Given the description of an element on the screen output the (x, y) to click on. 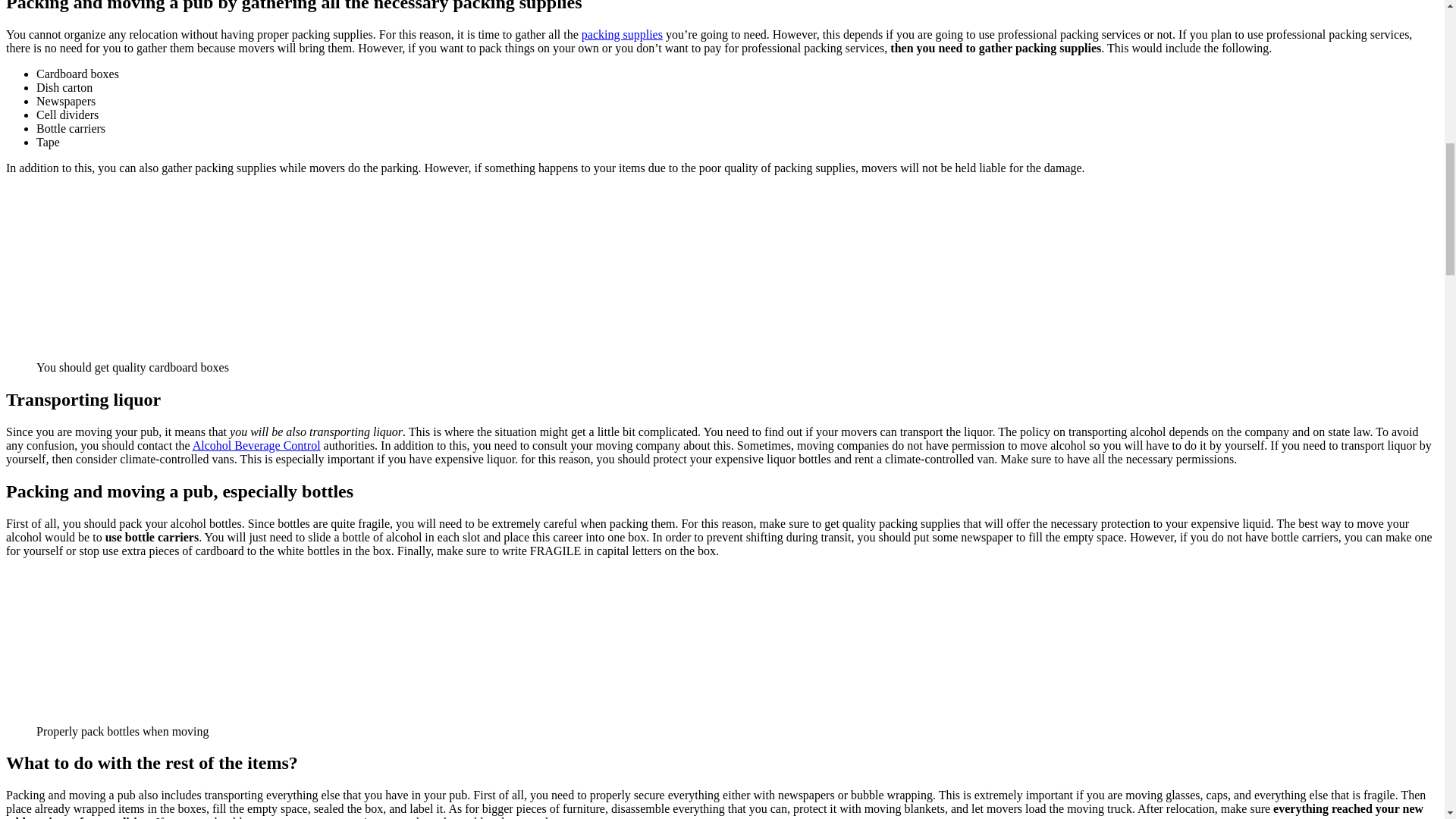
Alcohol Beverage Control (256, 445)
packing supplies (621, 33)
